Given the description of an element on the screen output the (x, y) to click on. 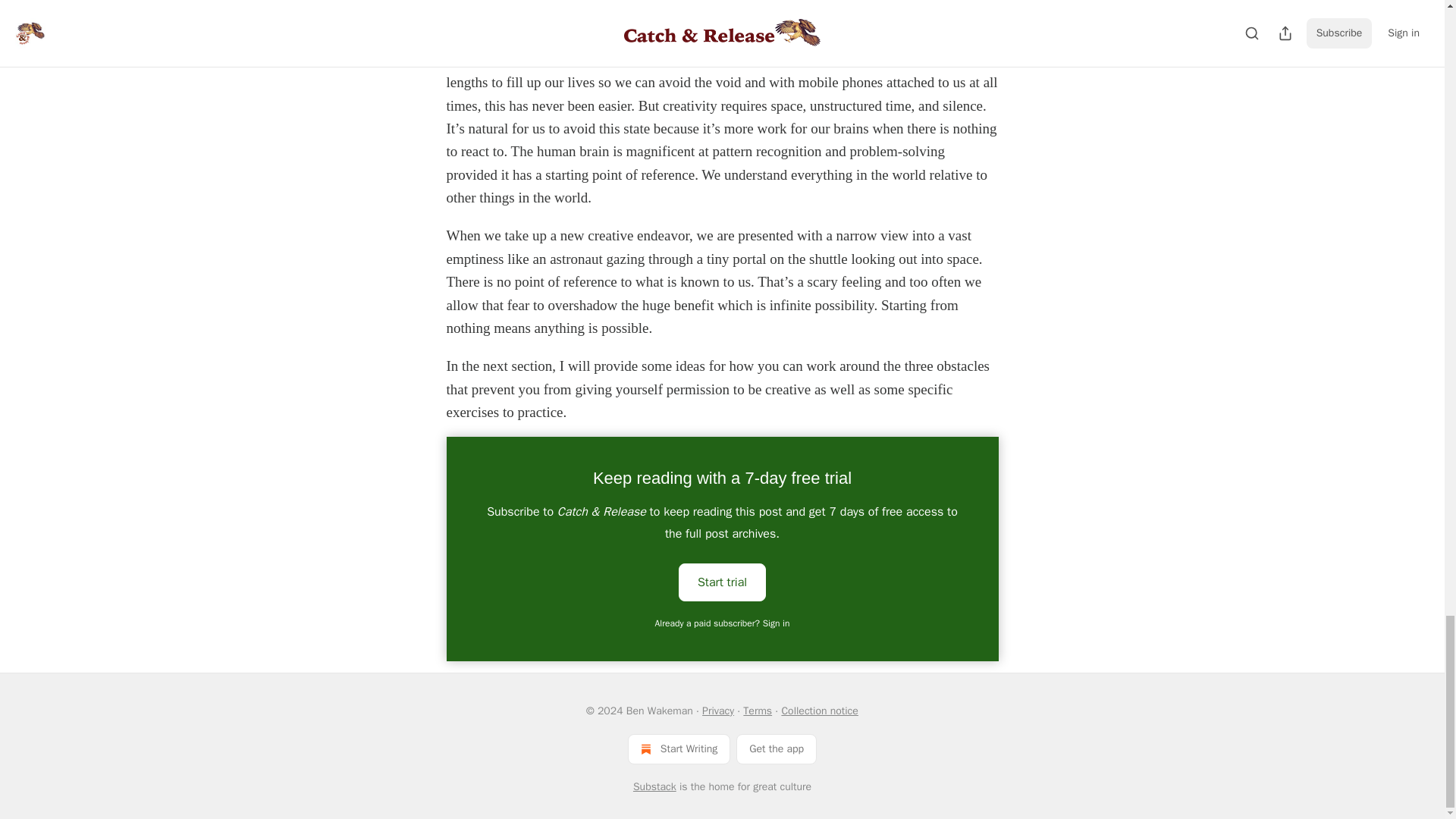
Start trial (721, 582)
Start trial (721, 581)
Collection notice (818, 710)
Substack (655, 786)
Terms (756, 710)
Privacy (717, 710)
Start Writing (678, 748)
Already a paid subscriber? Sign in (722, 623)
Get the app (776, 748)
